Given the description of an element on the screen output the (x, y) to click on. 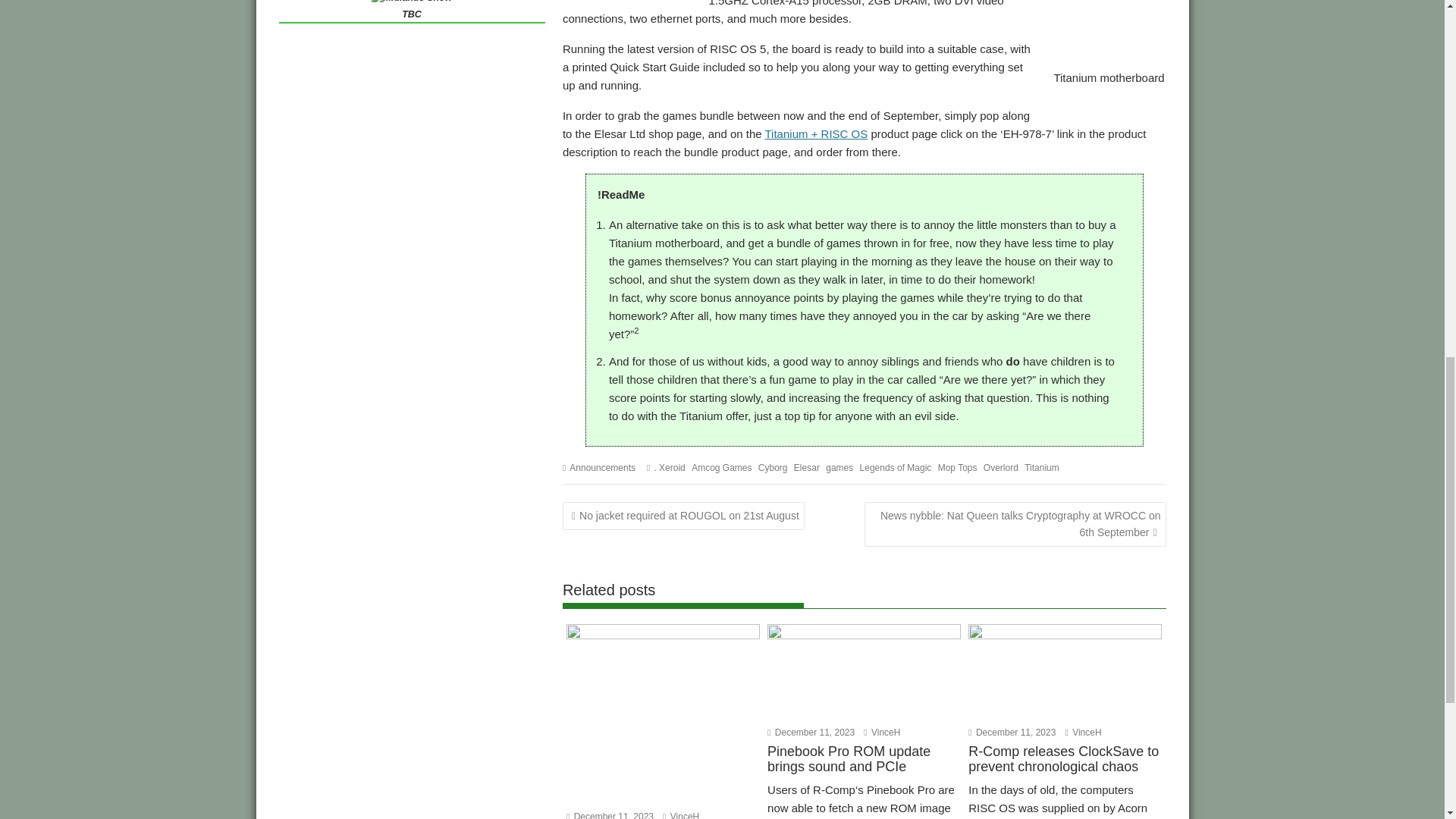
December 11, 2023 (810, 732)
Mop Tops (956, 467)
VinceH (680, 815)
VinceH (680, 815)
VinceH (1082, 732)
Amcog Games (721, 467)
Titanium (1042, 467)
Legends of Magic (895, 467)
No jacket required at ROUGOL on 21st August (683, 515)
Overlord (1000, 467)
December 11, 2023 (609, 815)
. Xeroid (668, 467)
Cyborg (772, 467)
VinceH (881, 732)
Elesar (806, 467)
